Given the description of an element on the screen output the (x, y) to click on. 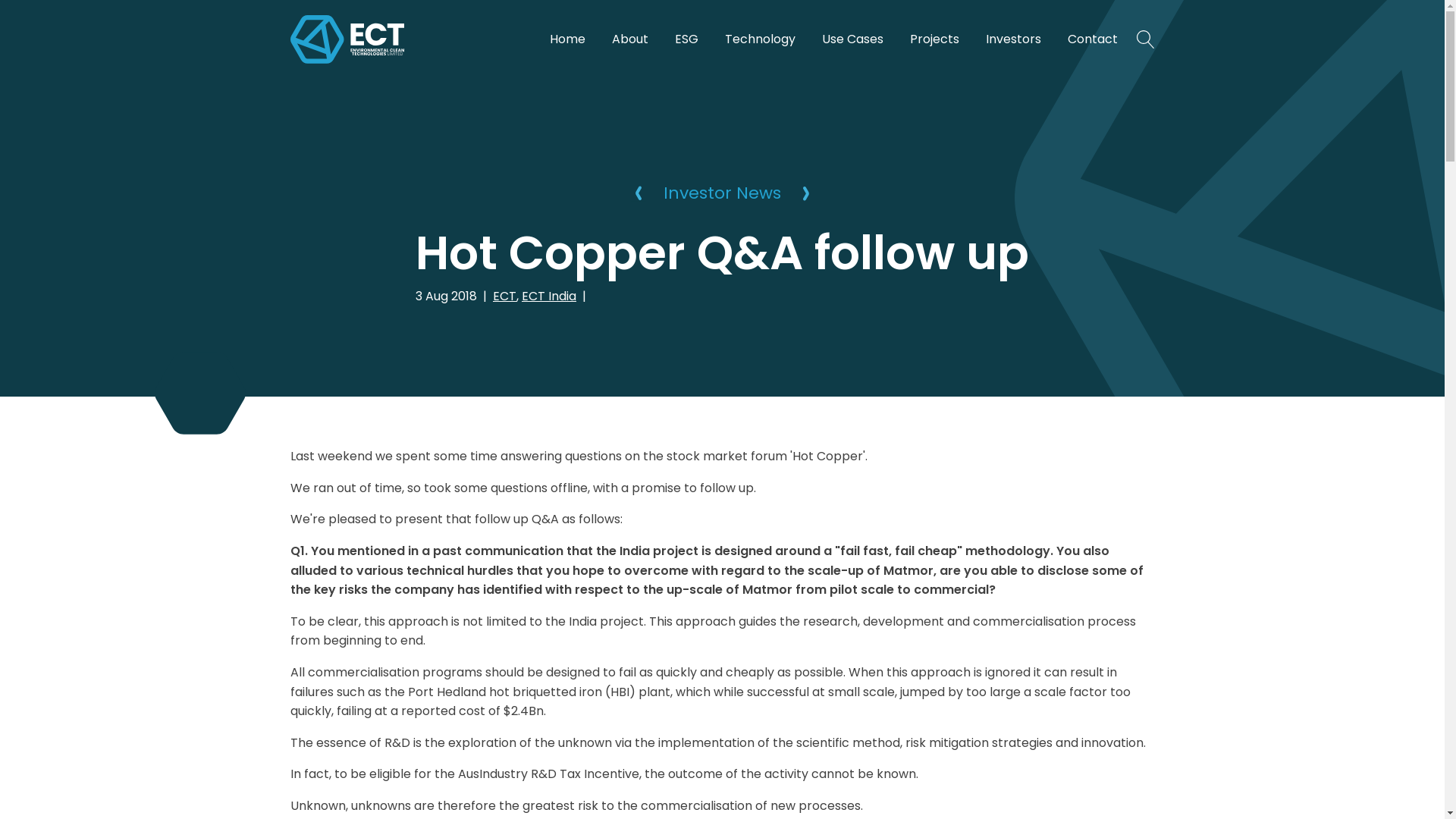
ESG Element type: text (686, 39)
Use Cases Element type: text (852, 39)
Investors Element type: text (1013, 39)
Technology Element type: text (760, 39)
Home Element type: text (566, 39)
Contact Element type: text (1092, 39)
ECT India Element type: text (548, 295)
About Element type: text (629, 39)
ECT Element type: text (504, 295)
Projects Element type: text (934, 39)
